Given the description of an element on the screen output the (x, y) to click on. 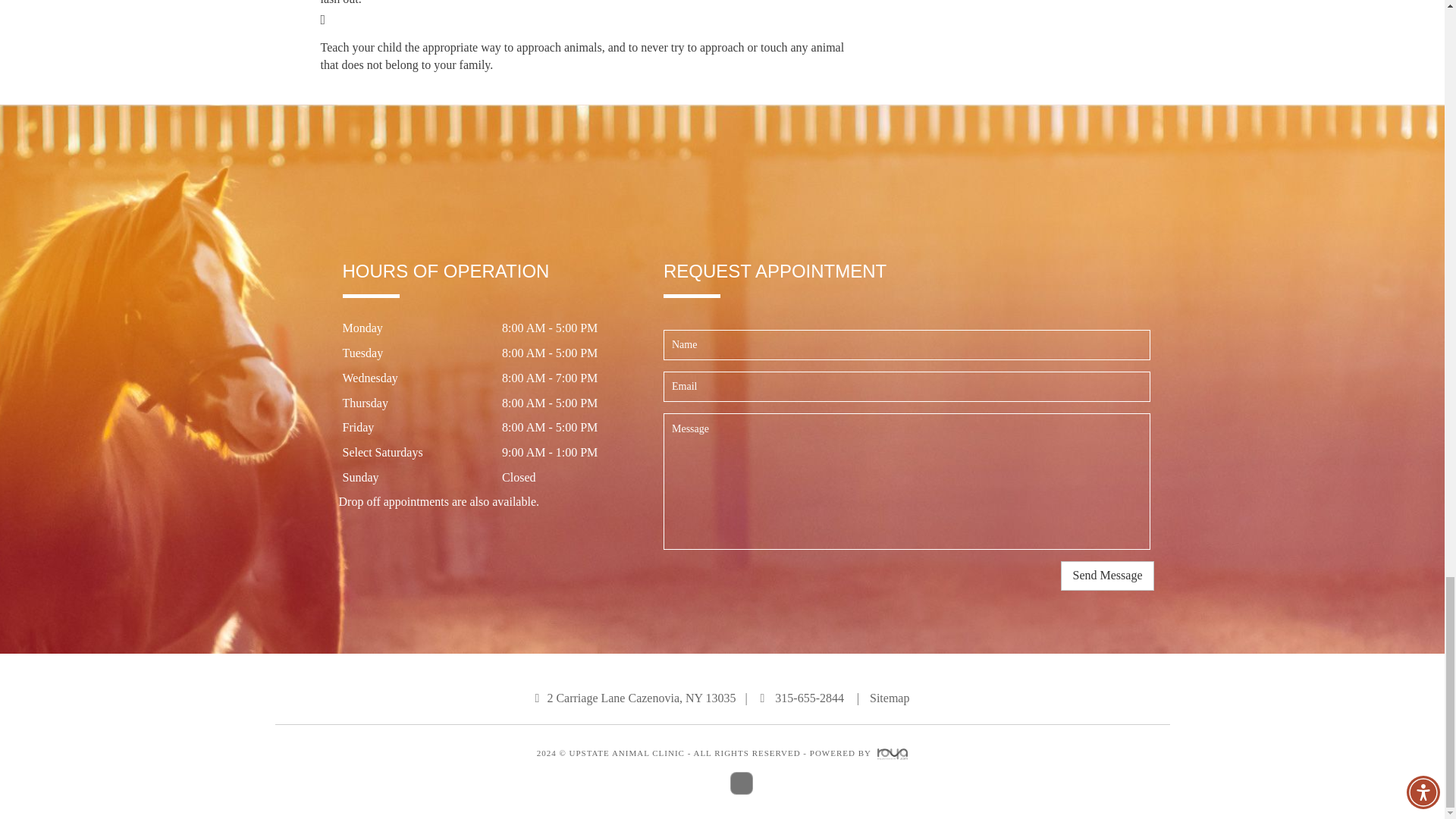
Powered By Roya (892, 752)
Send Message (1106, 575)
